Given the description of an element on the screen output the (x, y) to click on. 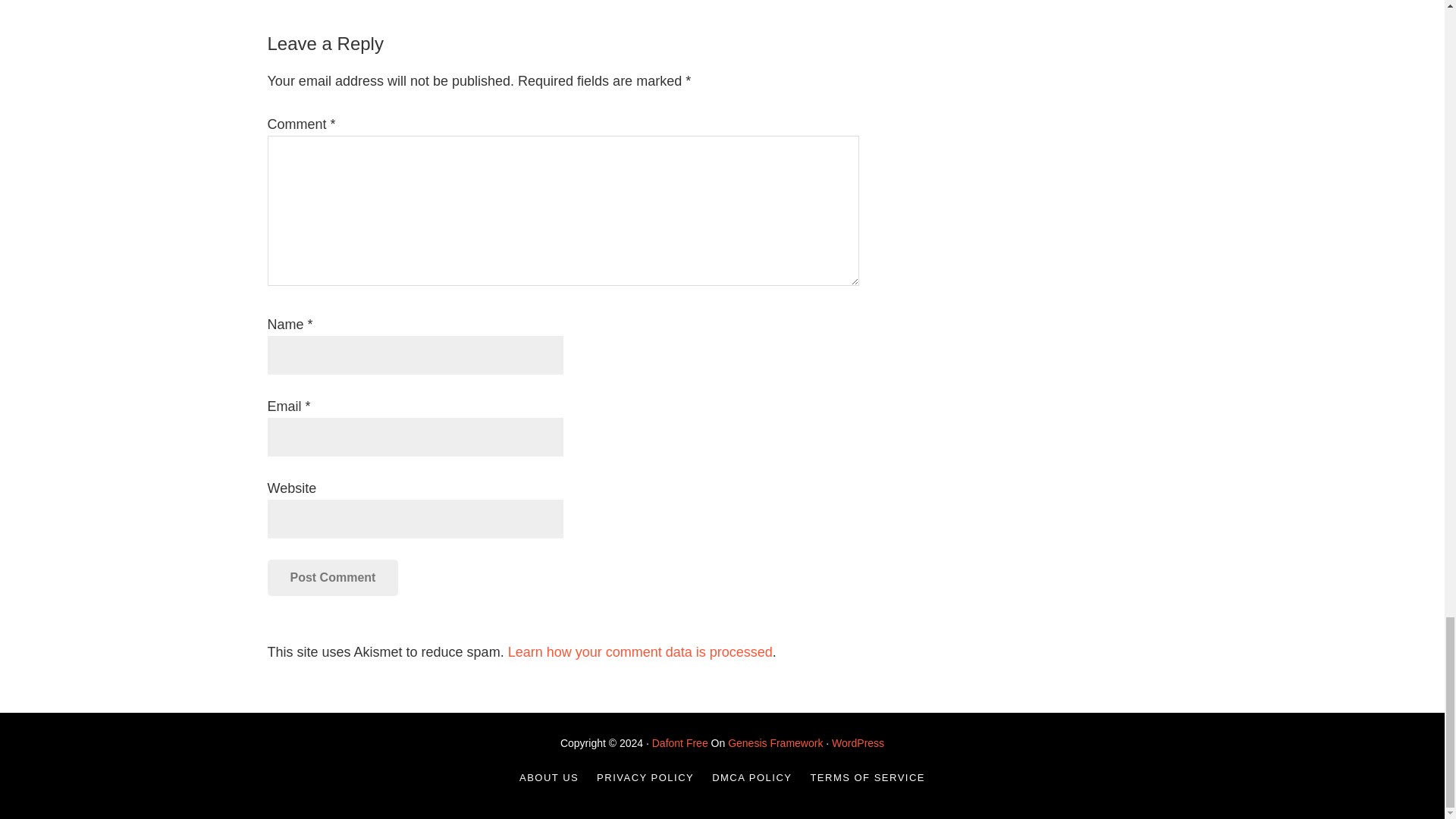
Post Comment (331, 577)
Learn how your comment data is processed (640, 652)
Post Comment (331, 577)
